Given the description of an element on the screen output the (x, y) to click on. 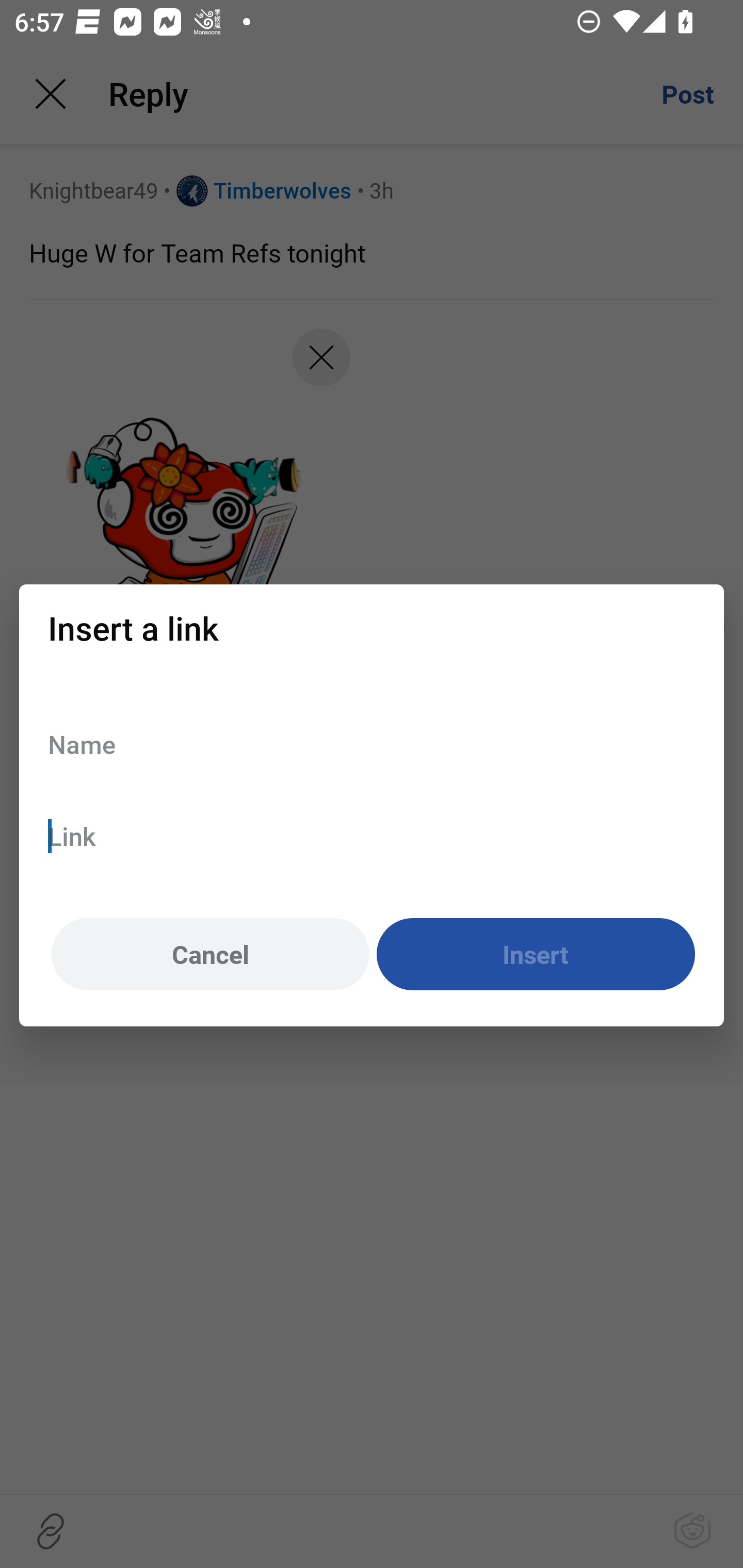
Name (371, 743)
Link (371, 835)
Cancel (210, 954)
Insert (535, 954)
